Given the description of an element on the screen output the (x, y) to click on. 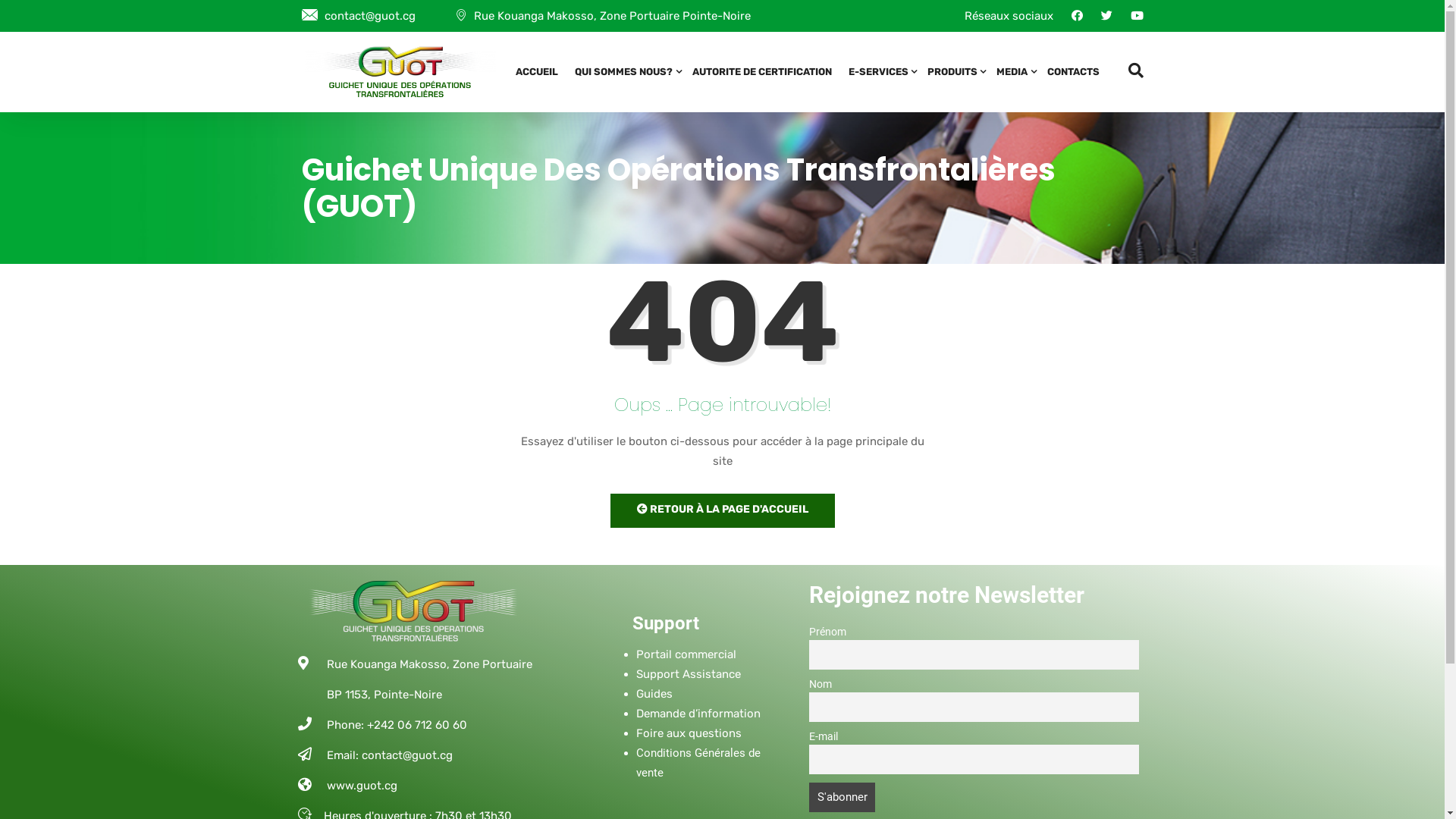
E-SERVICES Element type: text (879, 71)
ACCUEIL Element type: text (536, 71)
Portail commercial Element type: text (685, 654)
CONTACTS Element type: text (1072, 71)
AUTORITE DE CERTIFICATION Element type: text (761, 71)
Support Assistance Element type: text (687, 673)
MEDIA Element type: text (1012, 71)
S'abonner Element type: text (842, 797)
Foire aux questions Element type: text (687, 733)
Guides Element type: text (653, 693)
Email: contact@guot.cg Element type: text (419, 755)
QUI SOMMES NOUS? Element type: text (624, 71)
PRODUITS Element type: text (953, 71)
Phone: +242 06 712 60 60 Element type: text (419, 724)
